Given the description of an element on the screen output the (x, y) to click on. 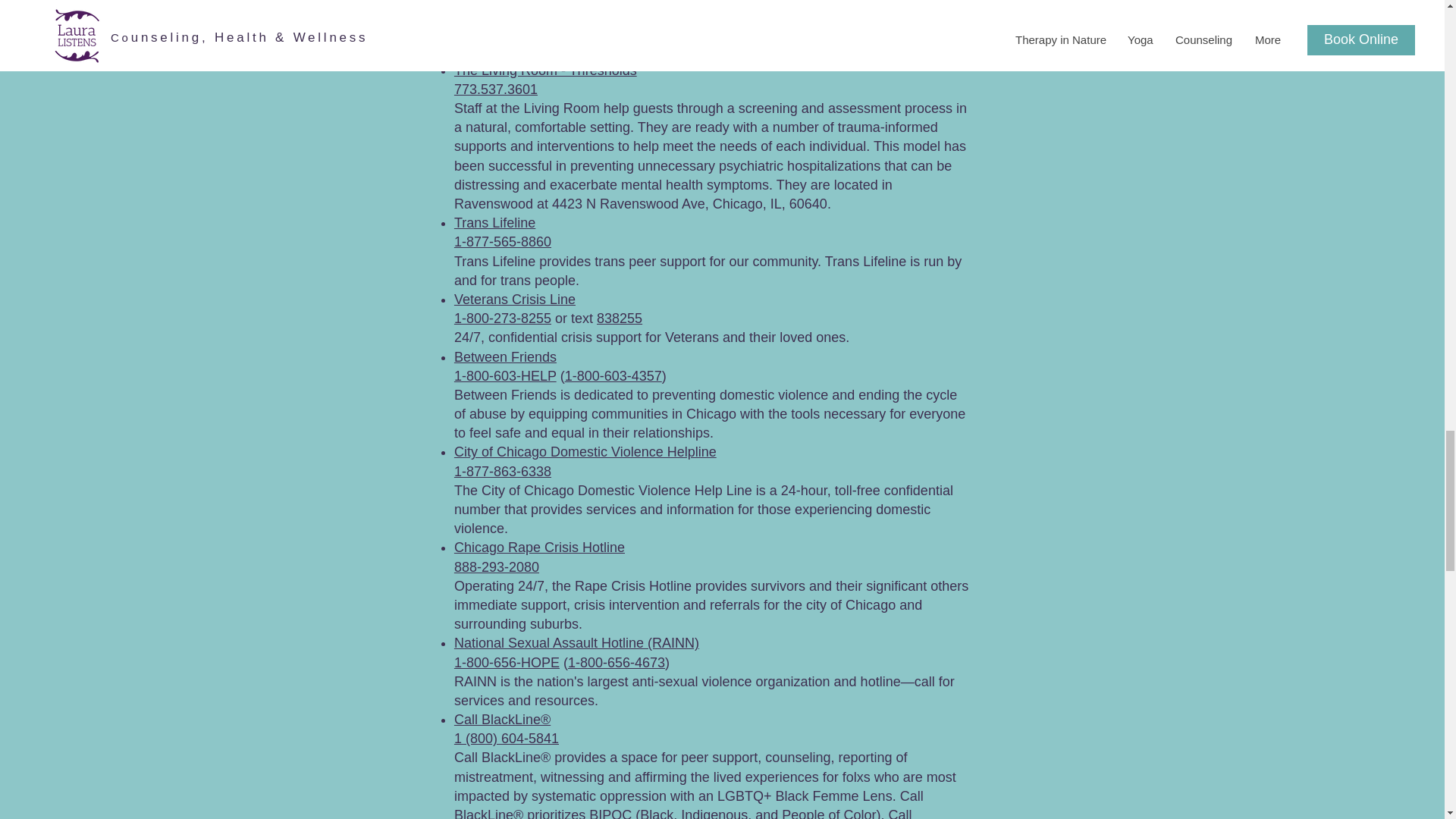
Veterans Crisis Line (514, 299)
City of Chicago Domestic Violence Helpline (585, 451)
The Living Room - Thresholds (545, 70)
Between Friends (505, 355)
Trans Lifeline (494, 222)
